Given the description of an element on the screen output the (x, y) to click on. 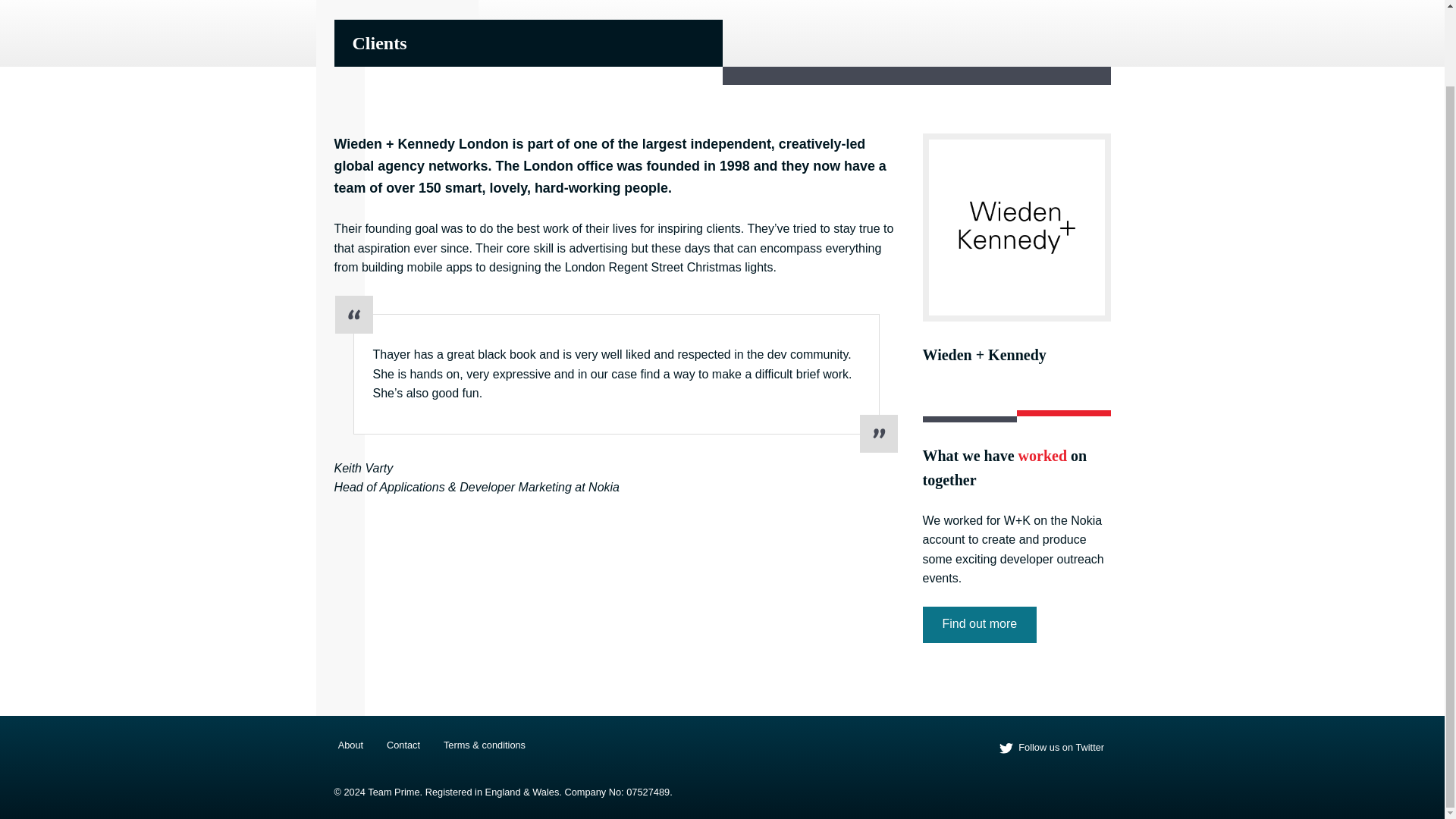
Find out more (978, 624)
Blog (1034, 6)
About (349, 745)
Clients (781, 6)
Services (846, 6)
About (723, 6)
Therapy (913, 6)
Contact (402, 745)
Contact (1088, 6)
Projects (979, 6)
Team Prime (396, 7)
Follow us on Twitter (1050, 747)
